Given the description of an element on the screen output the (x, y) to click on. 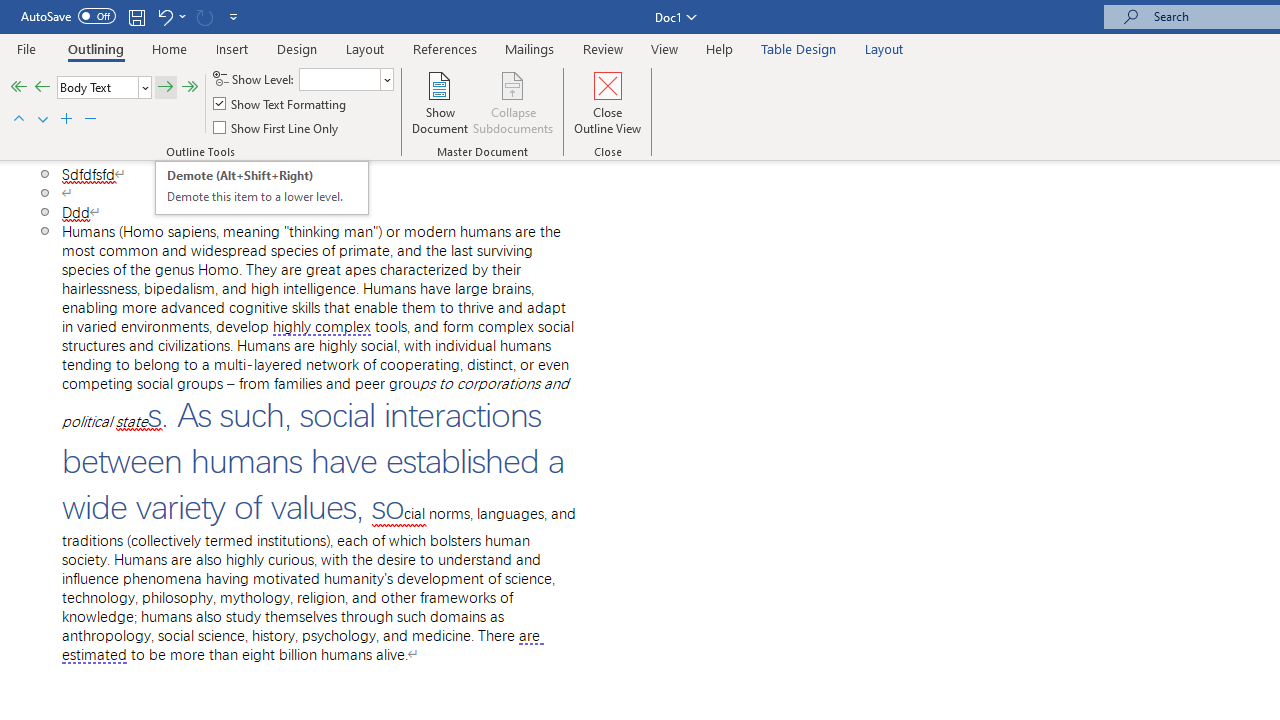
Show First Line Only (277, 126)
Demote to Body Text (189, 87)
Undo Row Height Spinner (164, 15)
Show Text Formatting (281, 103)
Demote (165, 87)
Collapse Subdocuments (513, 102)
Collapse (90, 119)
